Given the description of an element on the screen output the (x, y) to click on. 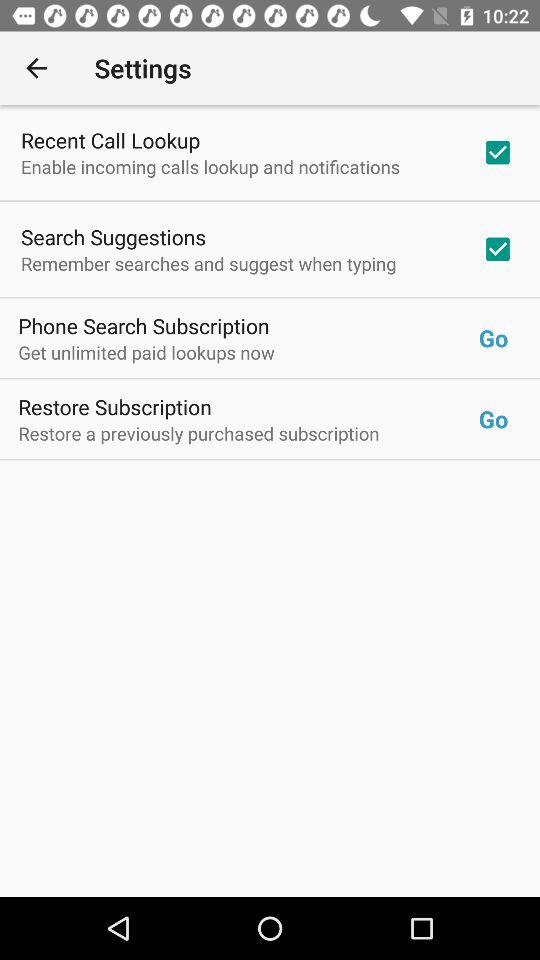
choose item above remember searches and icon (113, 236)
